Given the description of an element on the screen output the (x, y) to click on. 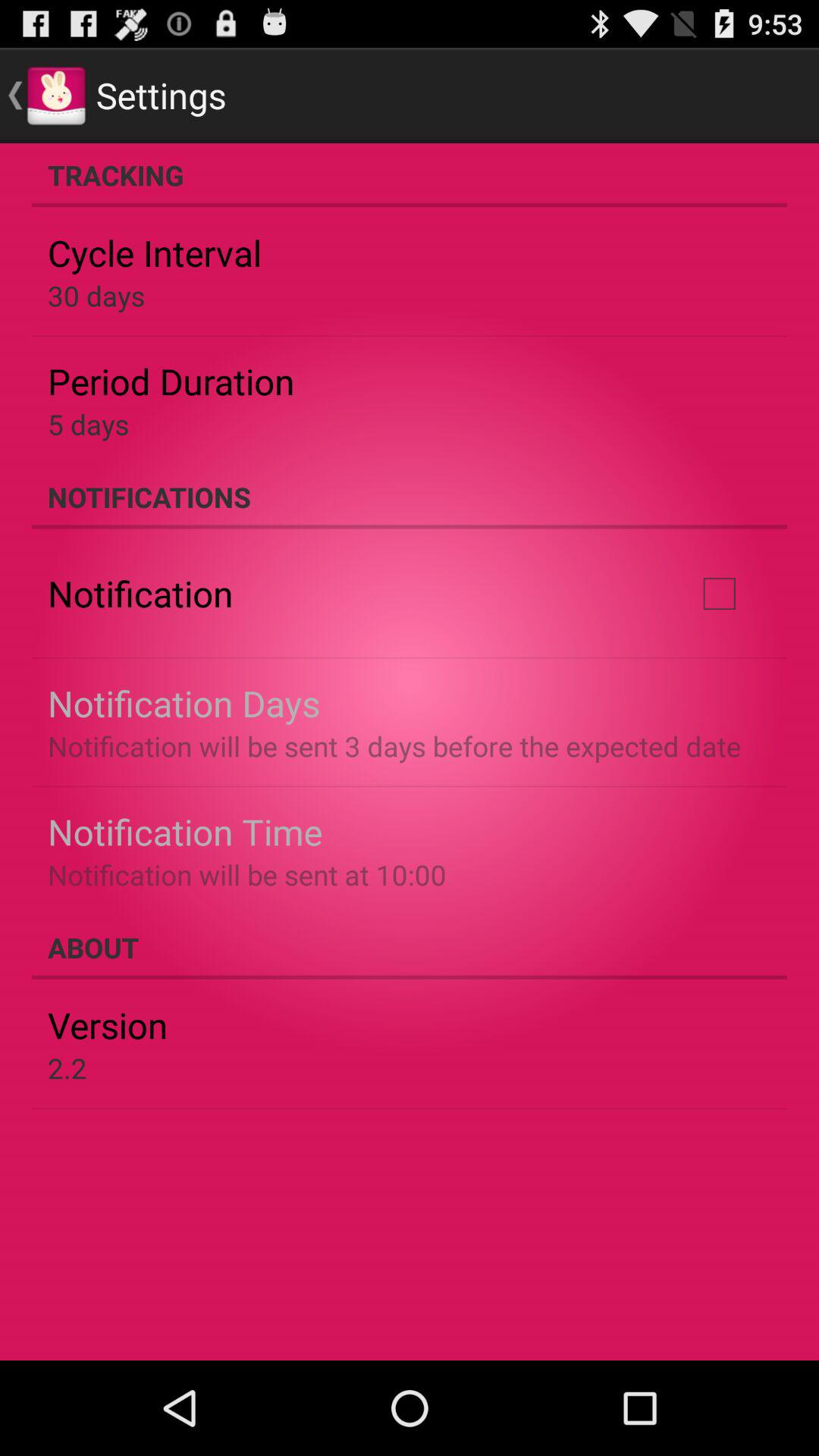
choose app above the notification will be icon (719, 593)
